Given the description of an element on the screen output the (x, y) to click on. 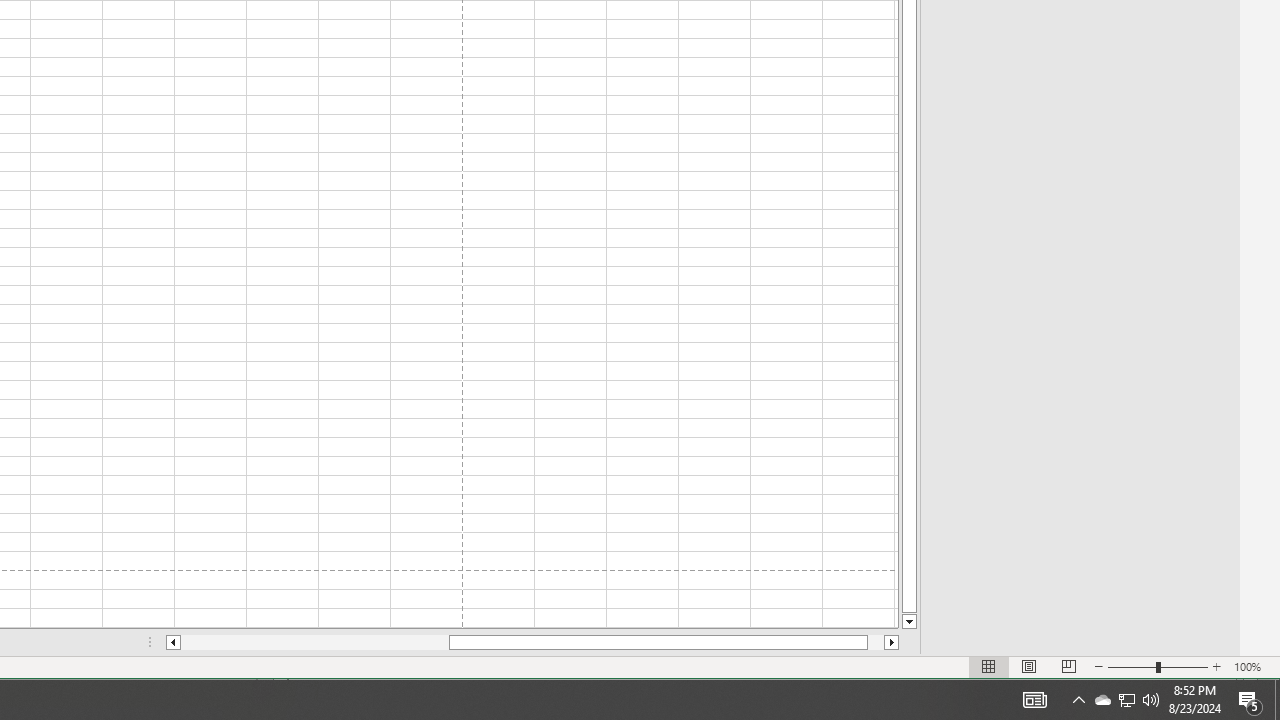
User Promoted Notification Area (1126, 699)
AutomationID: 4105 (1126, 699)
Action Center, 5 new notifications (1034, 699)
Show desktop (1250, 699)
Page left (1277, 699)
